Given the description of an element on the screen output the (x, y) to click on. 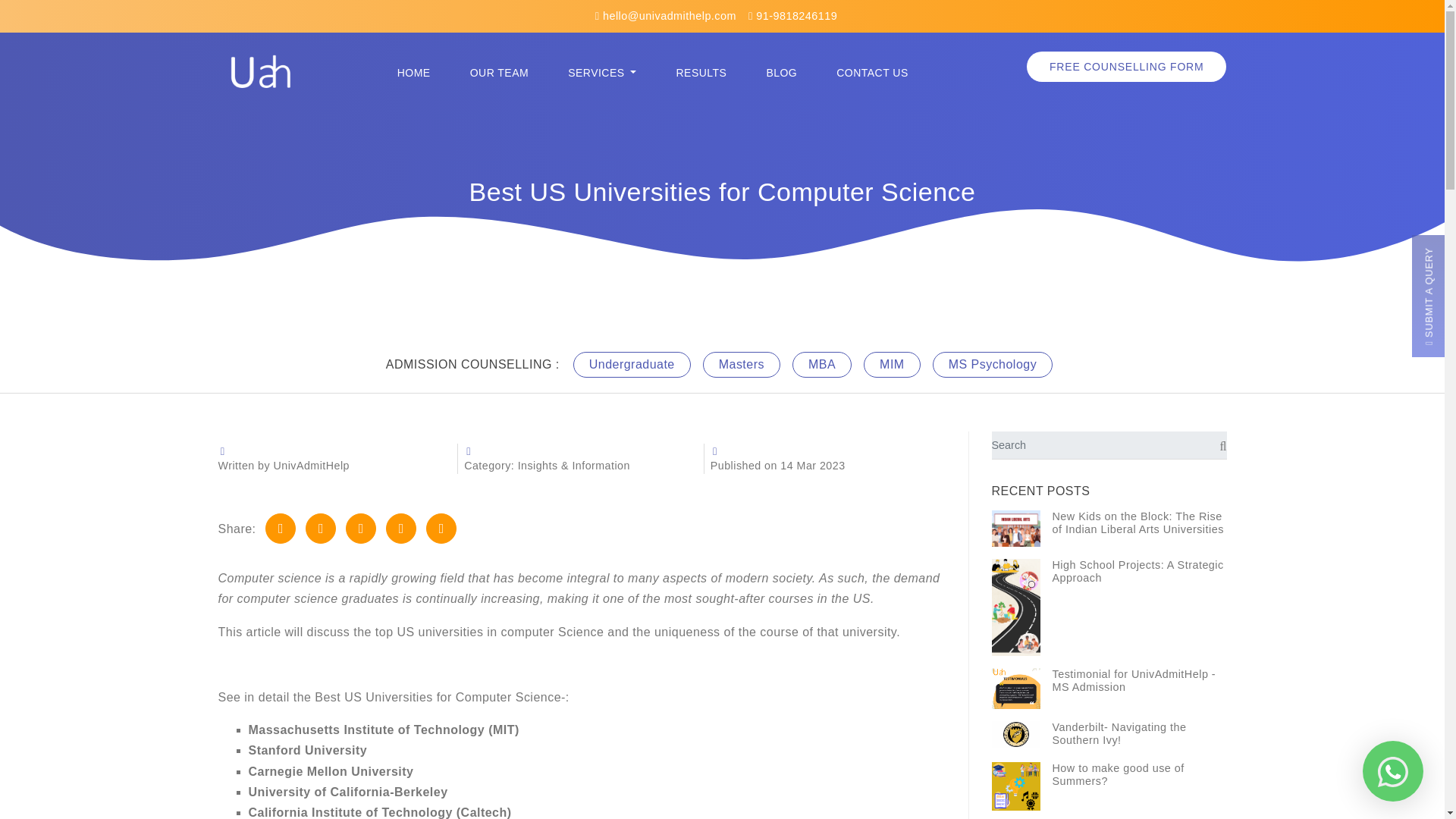
FREE COUNSELLING FORM (1126, 66)
SERVICES (601, 72)
WhatsApp (400, 528)
CONTACT US (871, 72)
Reddit (441, 528)
BLOG (781, 72)
RESULTS (700, 72)
Facebook (279, 528)
91-9818246119 (792, 15)
Twitter (320, 528)
MBA (821, 364)
MIM (891, 364)
MS Psychology (992, 364)
LinkedIn (360, 528)
Undergraduate (631, 364)
